Given the description of an element on the screen output the (x, y) to click on. 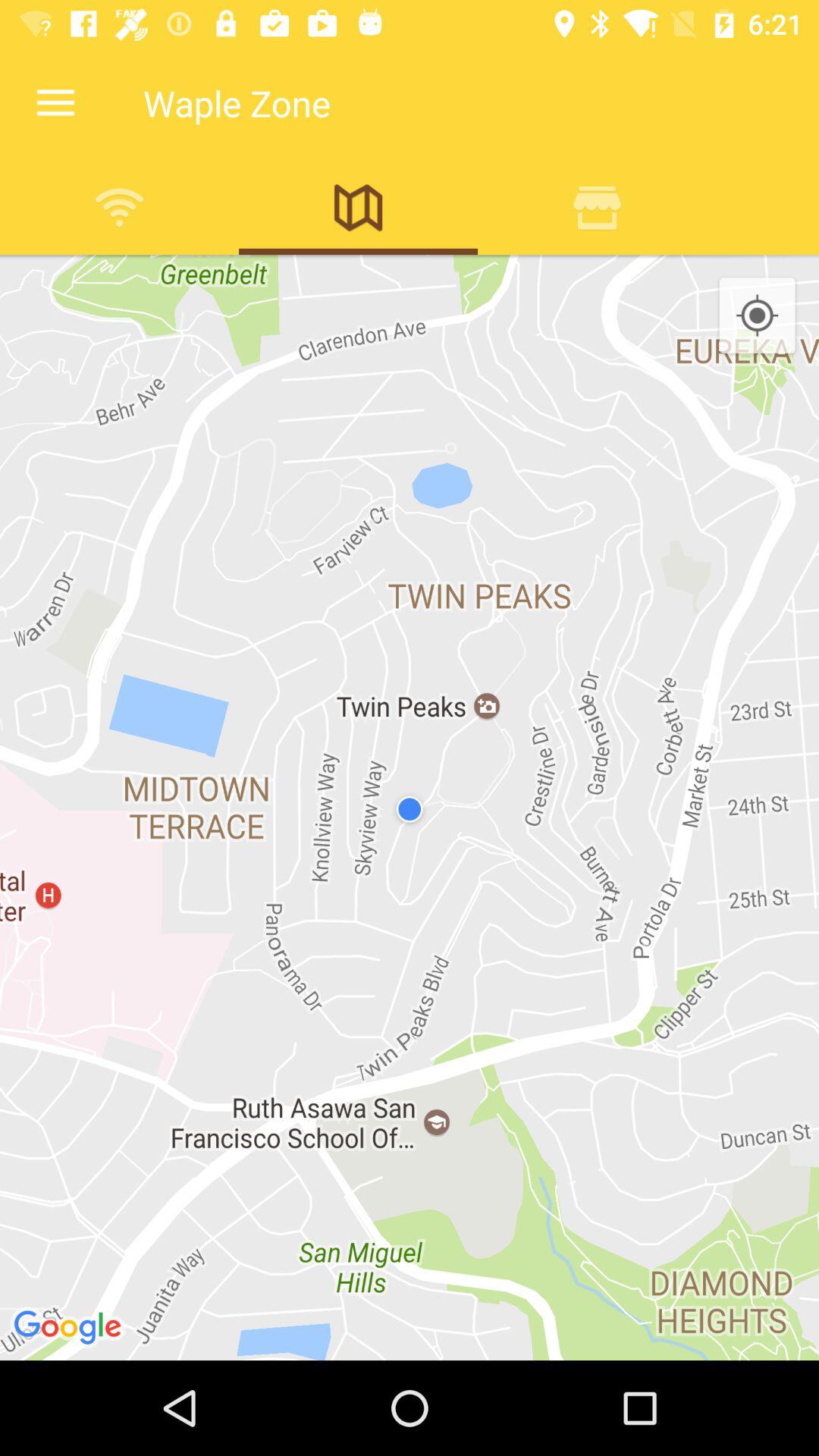
view stores (596, 206)
